Given the description of an element on the screen output the (x, y) to click on. 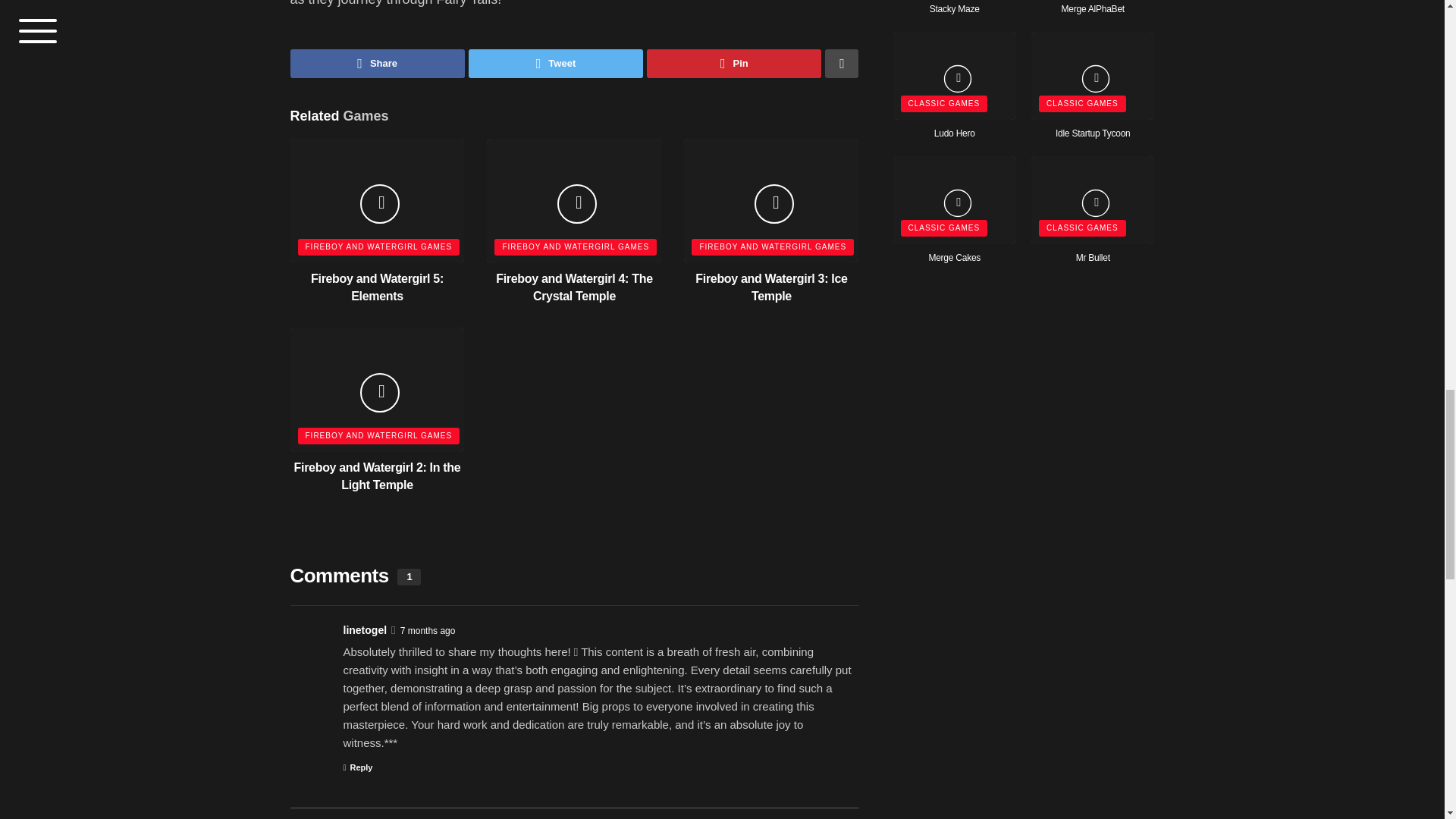
Fireboy and Watergirl 2: In the Light Temple (377, 475)
FIREBOY AND WATERGIRL GAMES (772, 247)
FIREBOY AND WATERGIRL GAMES (378, 247)
Share (376, 63)
Tweet (555, 63)
Fireboy and Watergirl 4: The Crystal Temple (574, 286)
Pin (733, 63)
Fireboy and Watergirl 5: Elements (377, 286)
FIREBOY AND WATERGIRL GAMES (378, 435)
Fireboy and Watergirl 3: Ice Temple (771, 286)
